Given the description of an element on the screen output the (x, y) to click on. 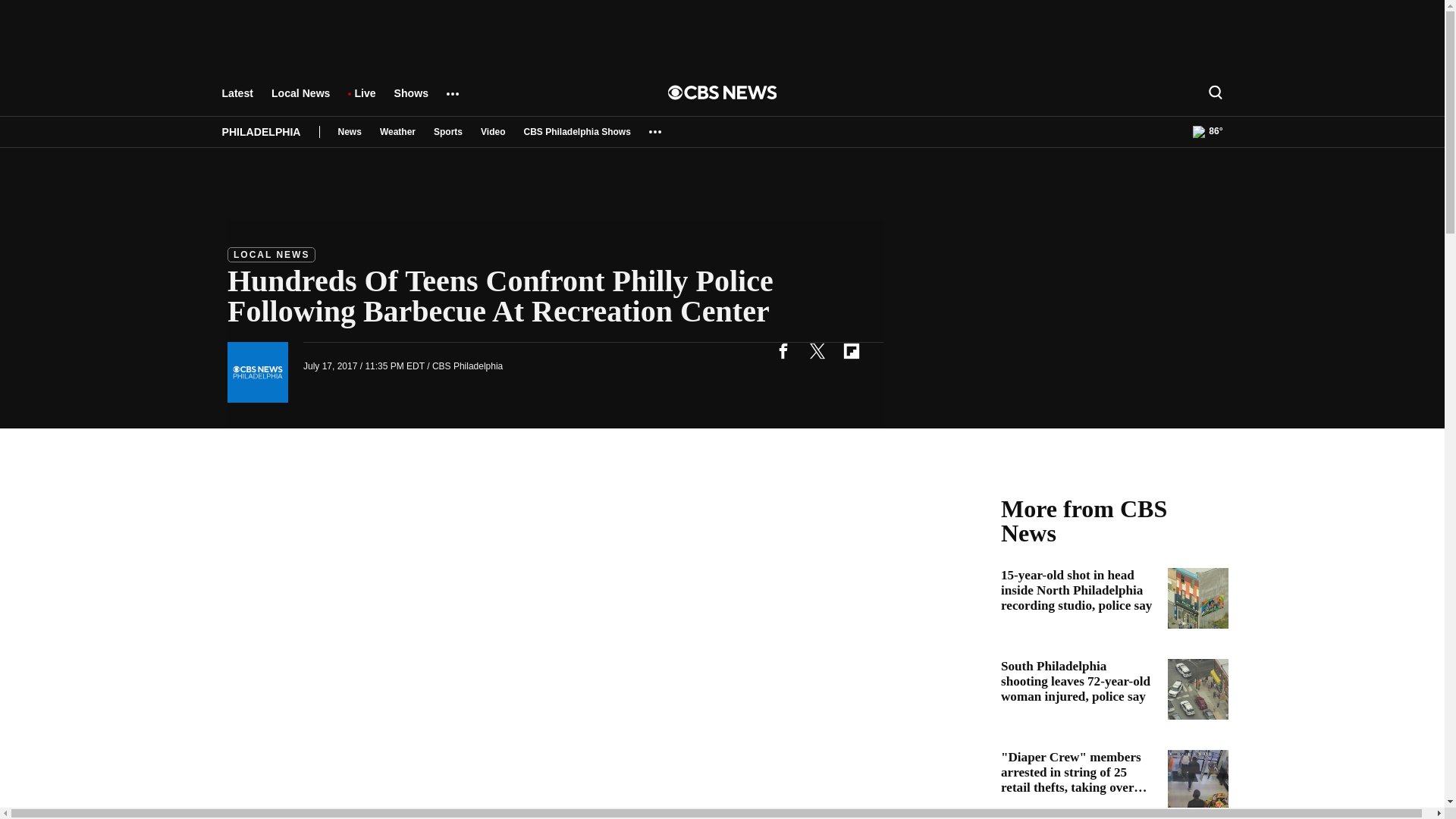
flipboard (850, 350)
twitter (816, 350)
facebook (782, 350)
Latest (236, 100)
Local News (300, 100)
Live (364, 100)
